Given the description of an element on the screen output the (x, y) to click on. 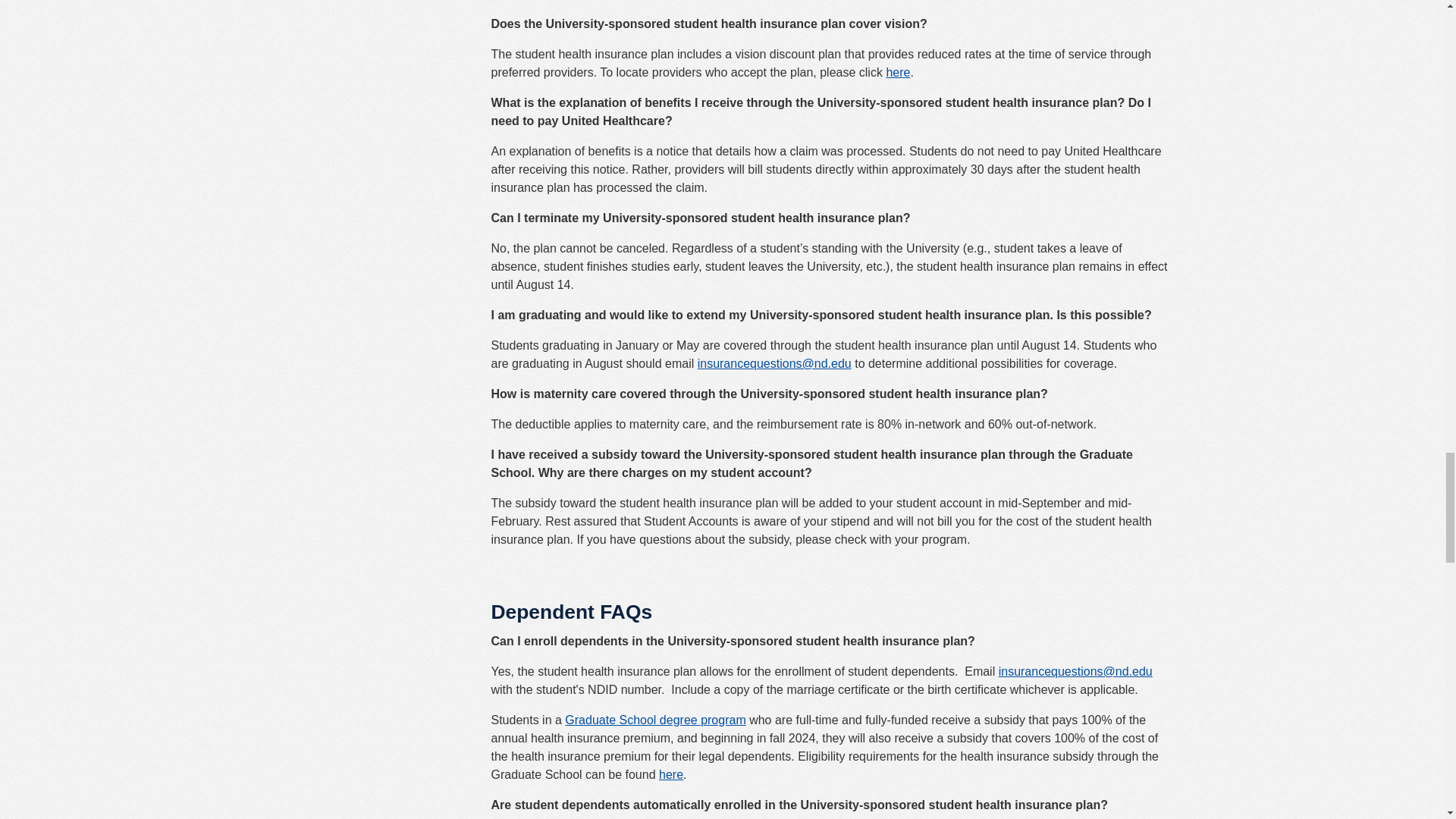
here (670, 774)
here (897, 72)
Graduate School degree program (654, 719)
